Given the description of an element on the screen output the (x, y) to click on. 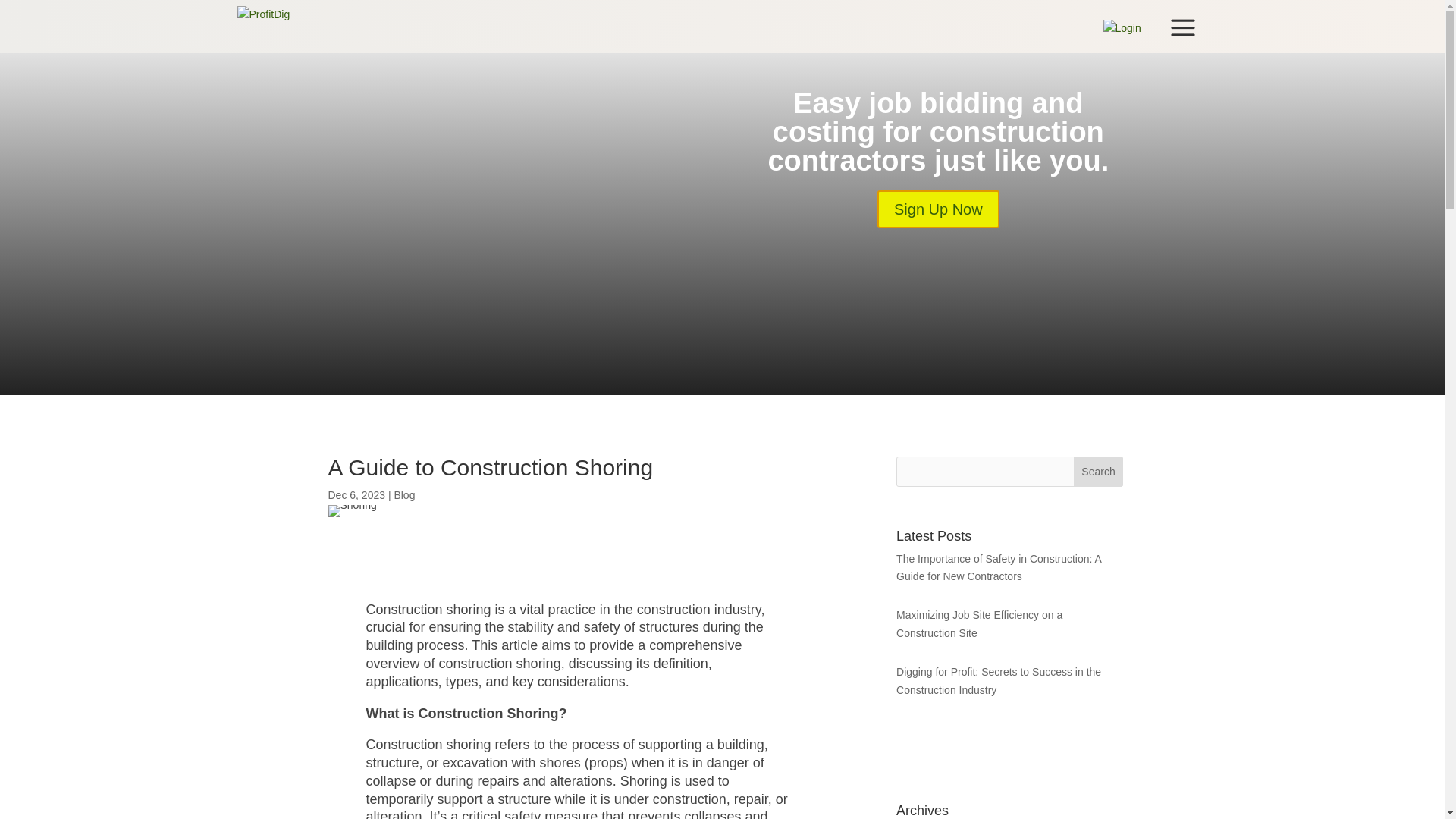
Maximizing Job Site Efficiency on a Construction Site (979, 624)
Search (1099, 471)
Shoring (351, 510)
Sign Up Now (937, 209)
Blog (403, 494)
a (1182, 27)
